Given the description of an element on the screen output the (x, y) to click on. 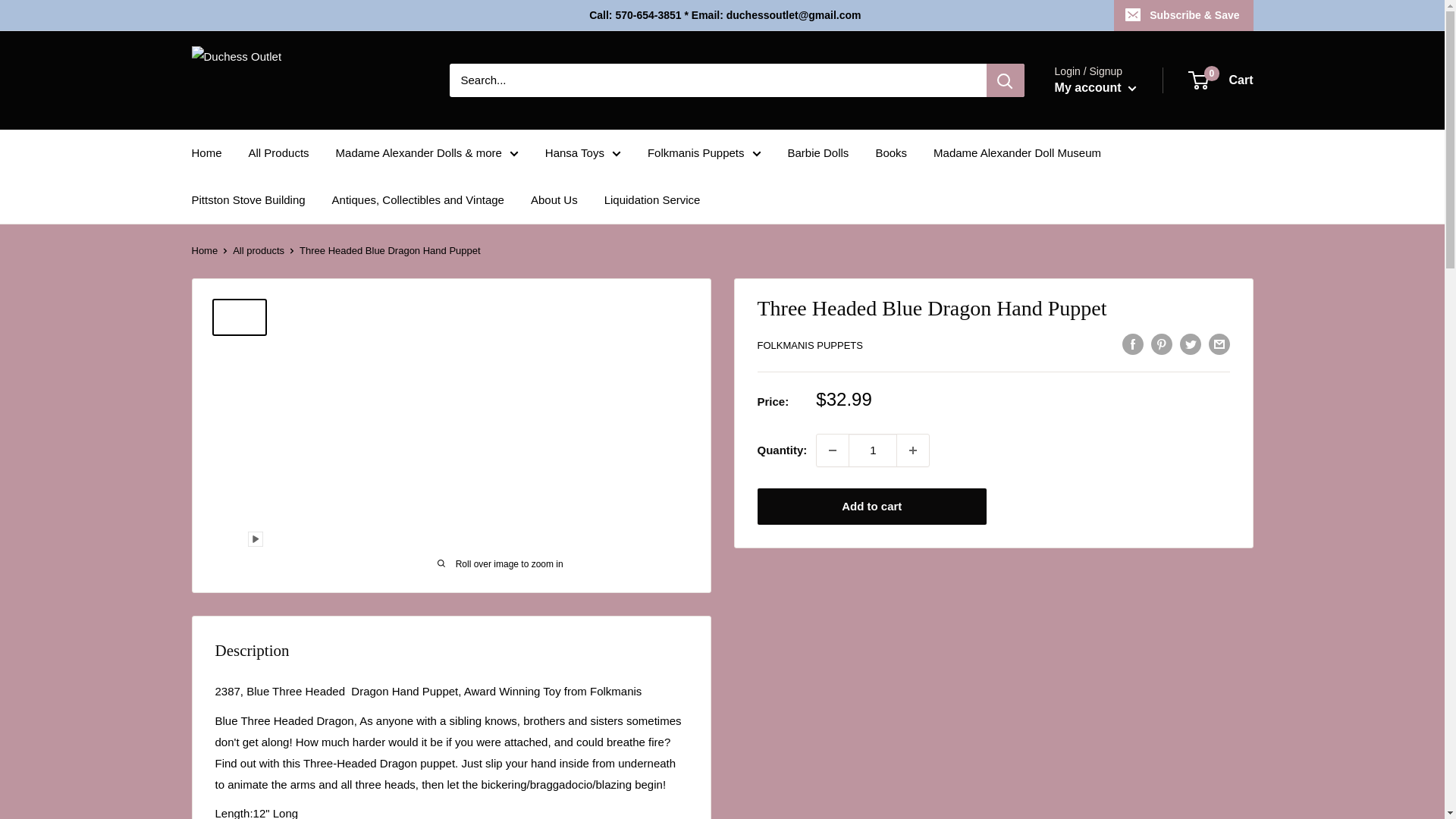
Increase quantity by 1 (912, 450)
1 (872, 450)
Decrease quantity by 1 (832, 450)
